Given the description of an element on the screen output the (x, y) to click on. 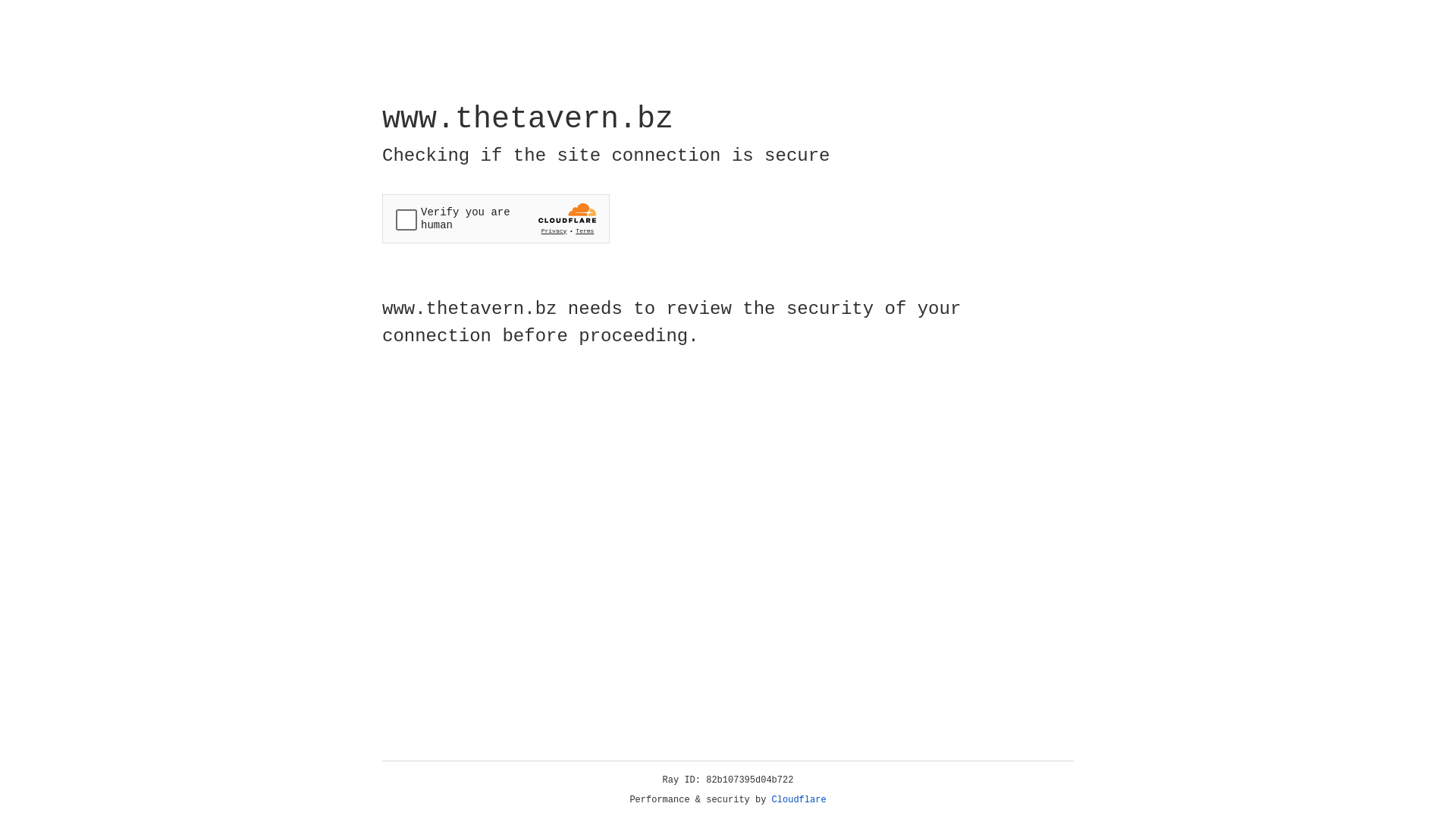
Cloudflare Element type: text (798, 799)
Widget containing a Cloudflare security challenge Element type: hover (495, 218)
